Given the description of an element on the screen output the (x, y) to click on. 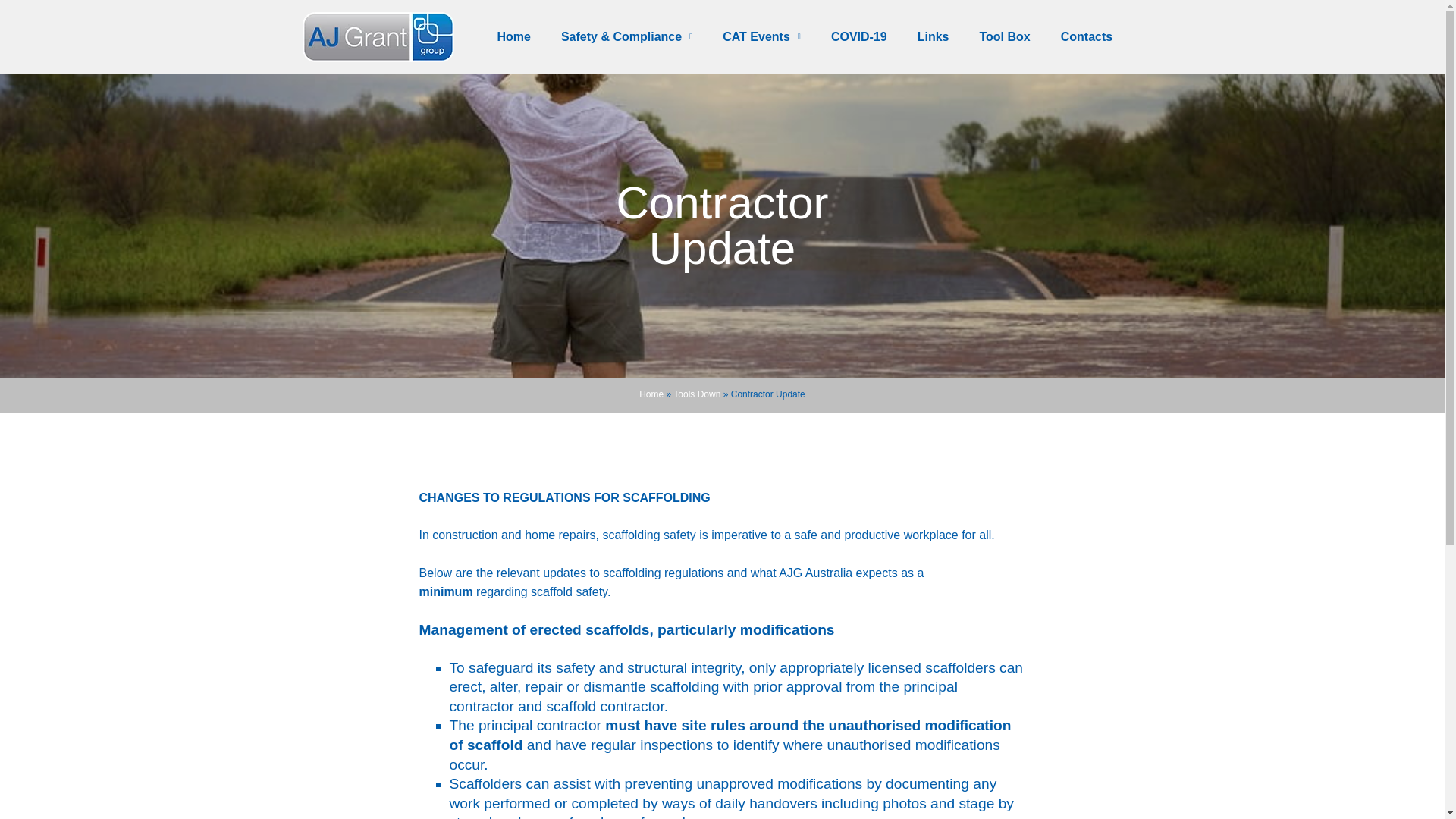
Contacts (1085, 36)
Links (932, 36)
Tool Box (1004, 36)
Home (512, 36)
CAT Events (761, 36)
COVID-19 (858, 36)
